Given the description of an element on the screen output the (x, y) to click on. 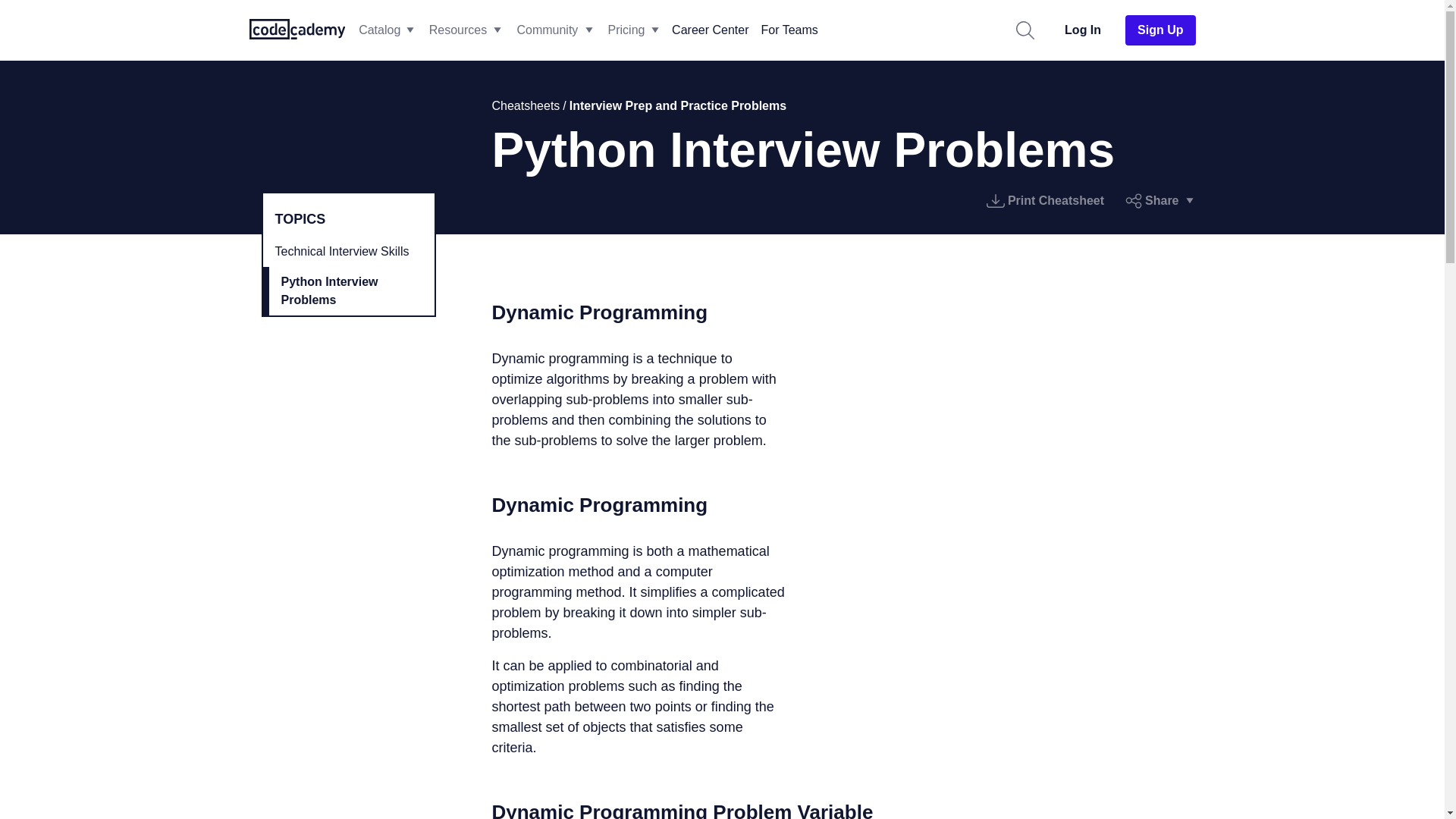
Community (546, 30)
Resources (464, 30)
Catalog (385, 30)
Pricing (632, 30)
Codecademy Logo (296, 30)
Catalog (385, 30)
Pricing (625, 30)
Codecademy Logo (296, 28)
Community (553, 30)
Catalog (378, 30)
